Given the description of an element on the screen output the (x, y) to click on. 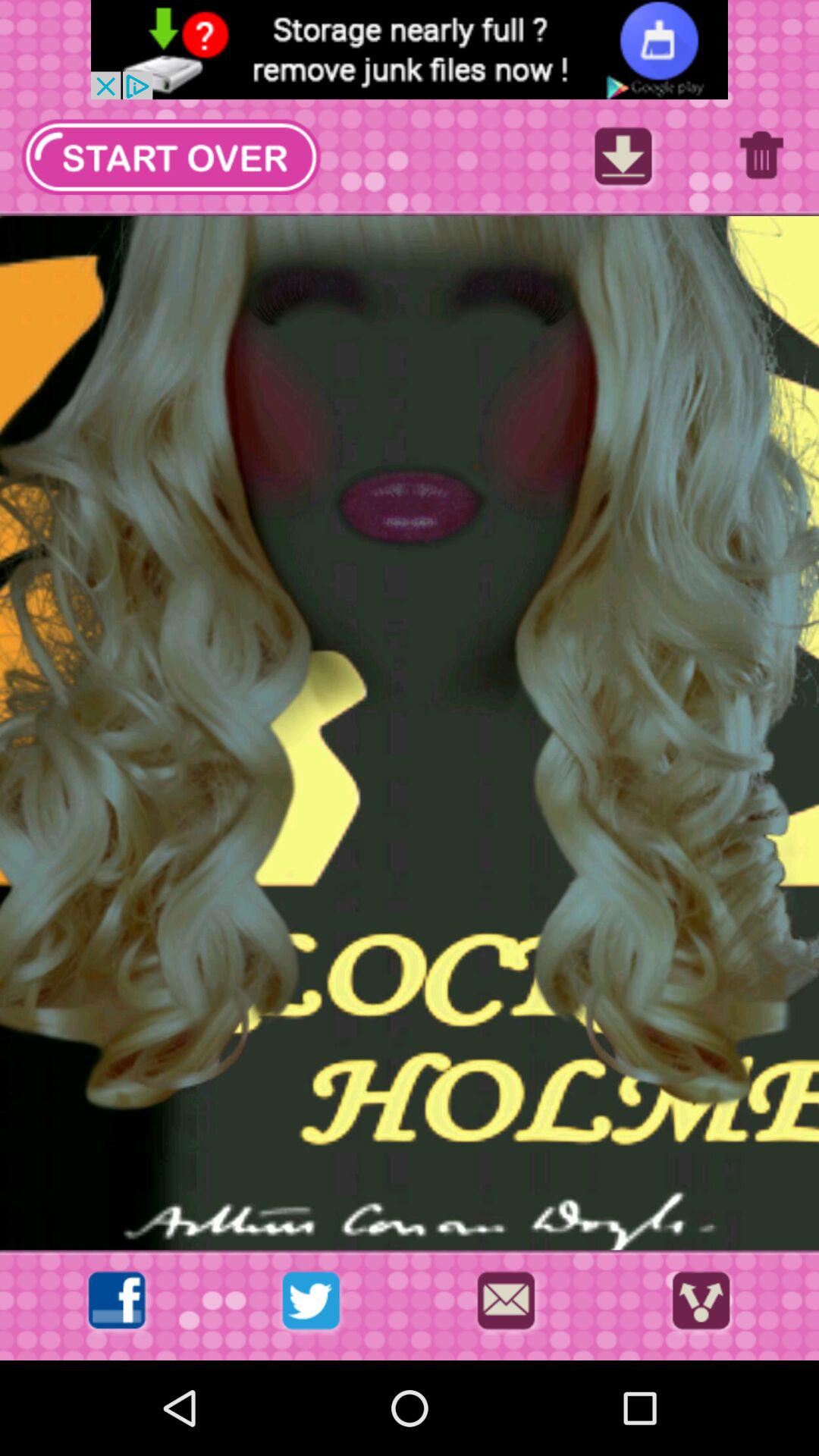
advertisement area (409, 49)
